Given the description of an element on the screen output the (x, y) to click on. 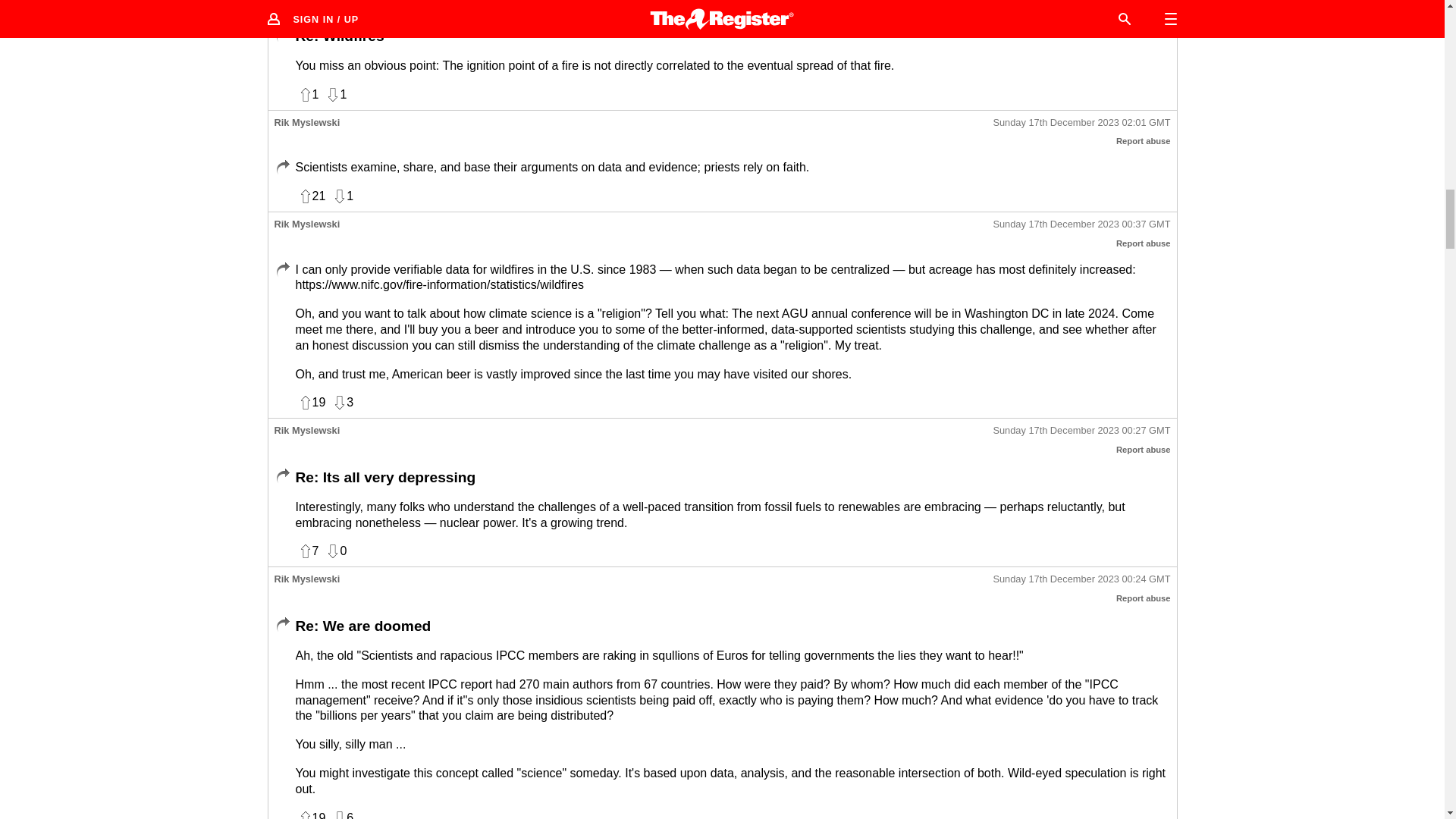
Report abuse (1143, 8)
Report abuse (1143, 140)
Report abuse (1143, 597)
Report abuse (1143, 449)
Report abuse (1143, 243)
